Given the description of an element on the screen output the (x, y) to click on. 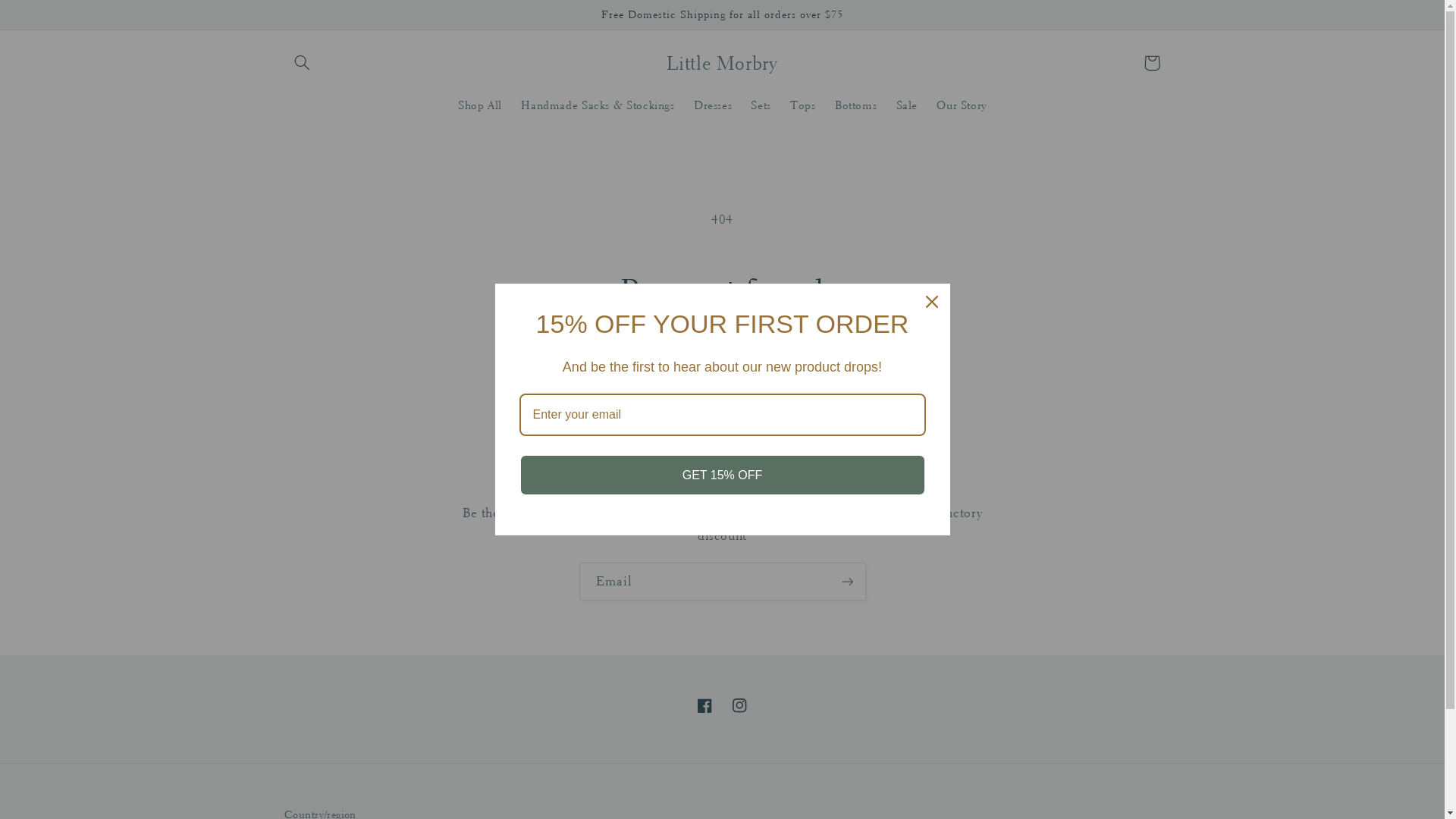
Dresses Element type: text (712, 105)
Bottoms Element type: text (855, 105)
Cart Element type: text (1151, 62)
Shop All Element type: text (479, 105)
Little Morbry Element type: text (722, 62)
Handmade Sacks & Stockings Element type: text (597, 105)
GET 15% OFF Element type: text (721, 474)
Tops Element type: text (803, 105)
Facebook Element type: text (704, 705)
Instagram Element type: text (738, 705)
Our Story Element type: text (961, 105)
Sale Element type: text (906, 105)
Sets Element type: text (761, 105)
Continue shopping Element type: text (722, 370)
